Given the description of an element on the screen output the (x, y) to click on. 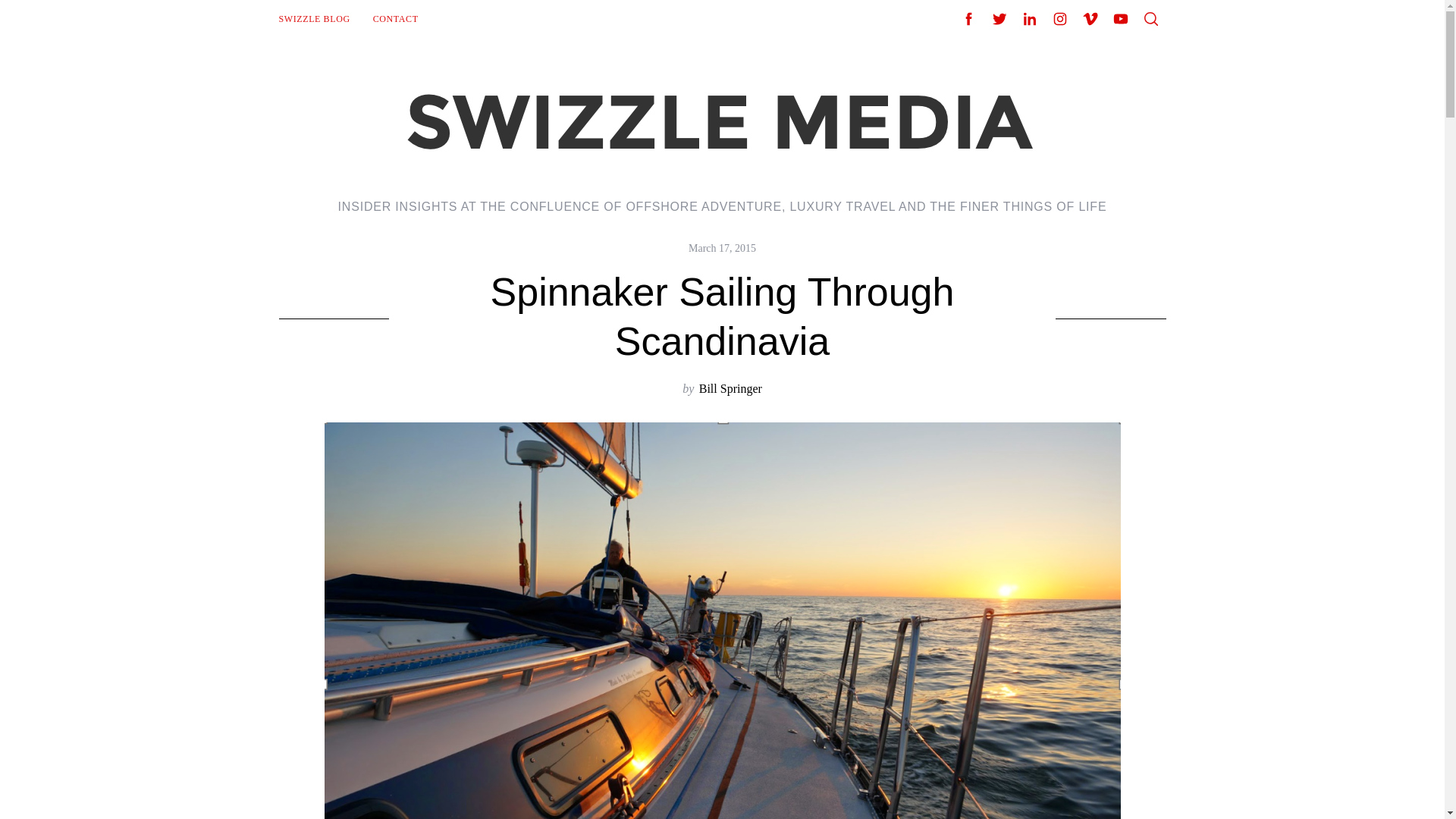
SWIZZLE BLOG (313, 18)
CONTACT (395, 18)
